Given the description of an element on the screen output the (x, y) to click on. 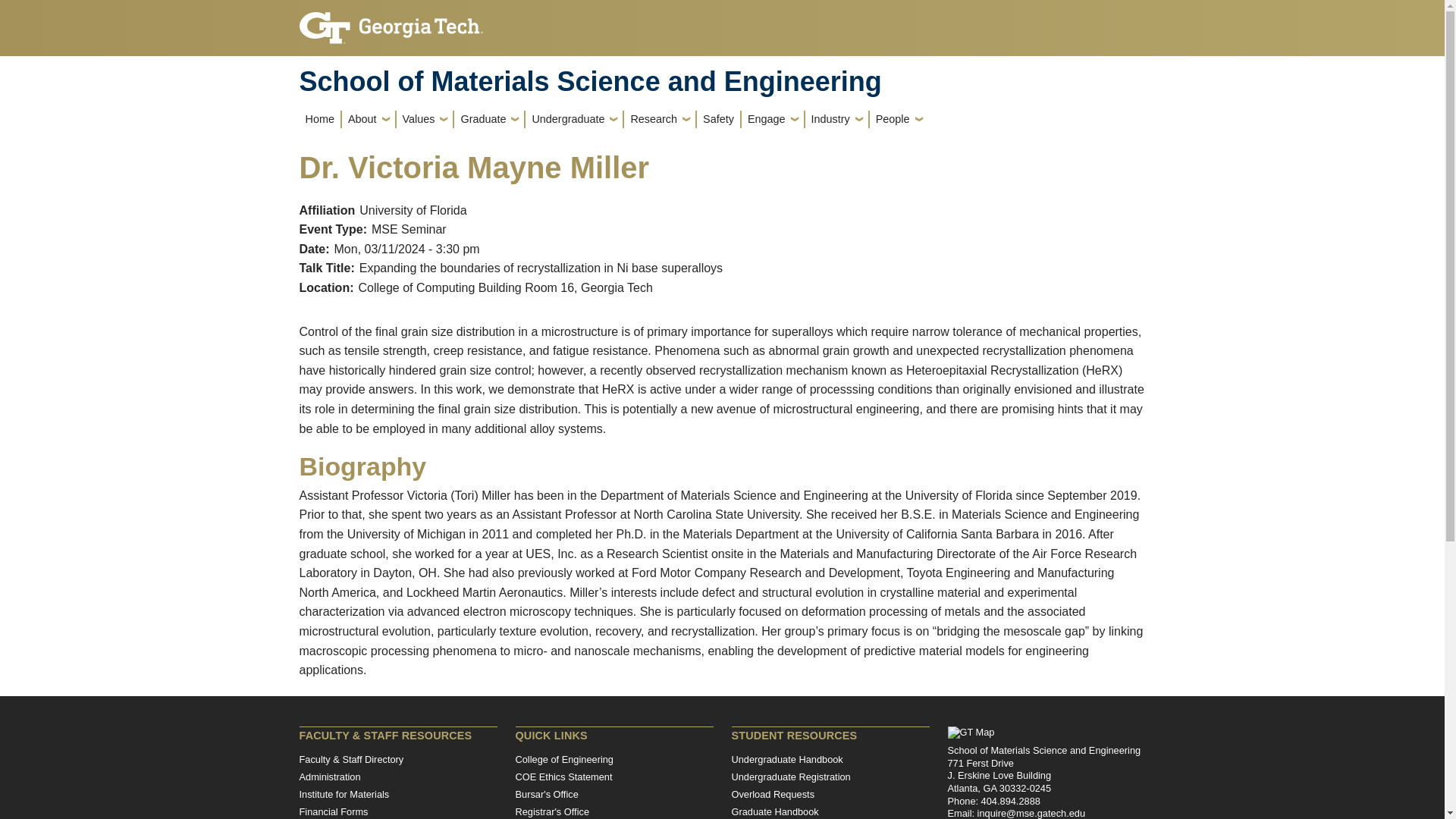
HOME (318, 118)
Home (318, 118)
Graduate (489, 118)
Georgia Institute of Technology (389, 21)
Values (424, 118)
School of Materials Science and Engineering (721, 81)
About (368, 118)
